Given the description of an element on the screen output the (x, y) to click on. 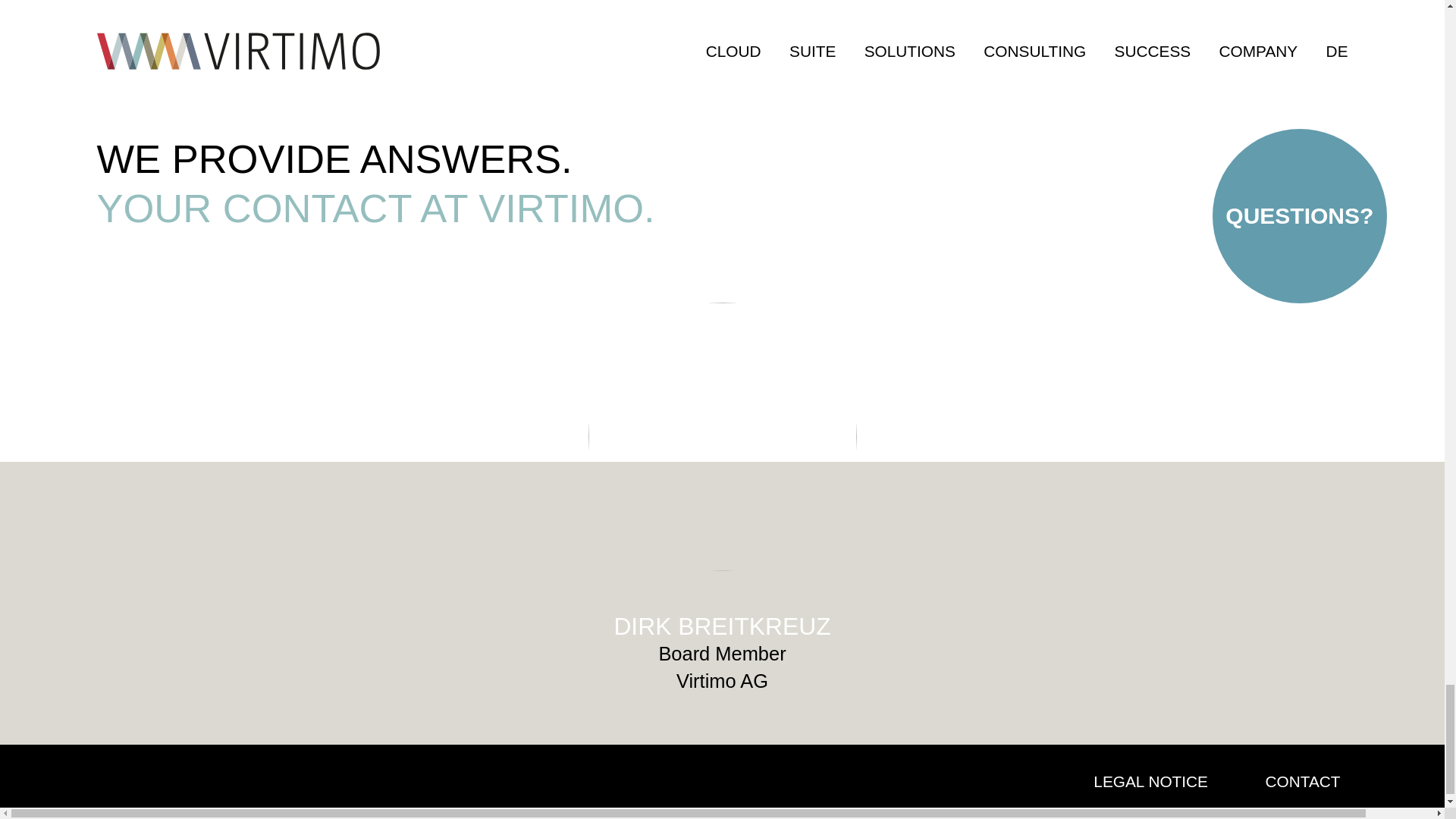
CONTACT (1302, 781)
DIRK BREITKREUZ (720, 625)
LEGAL NOTICE (1150, 781)
